Given the description of an element on the screen output the (x, y) to click on. 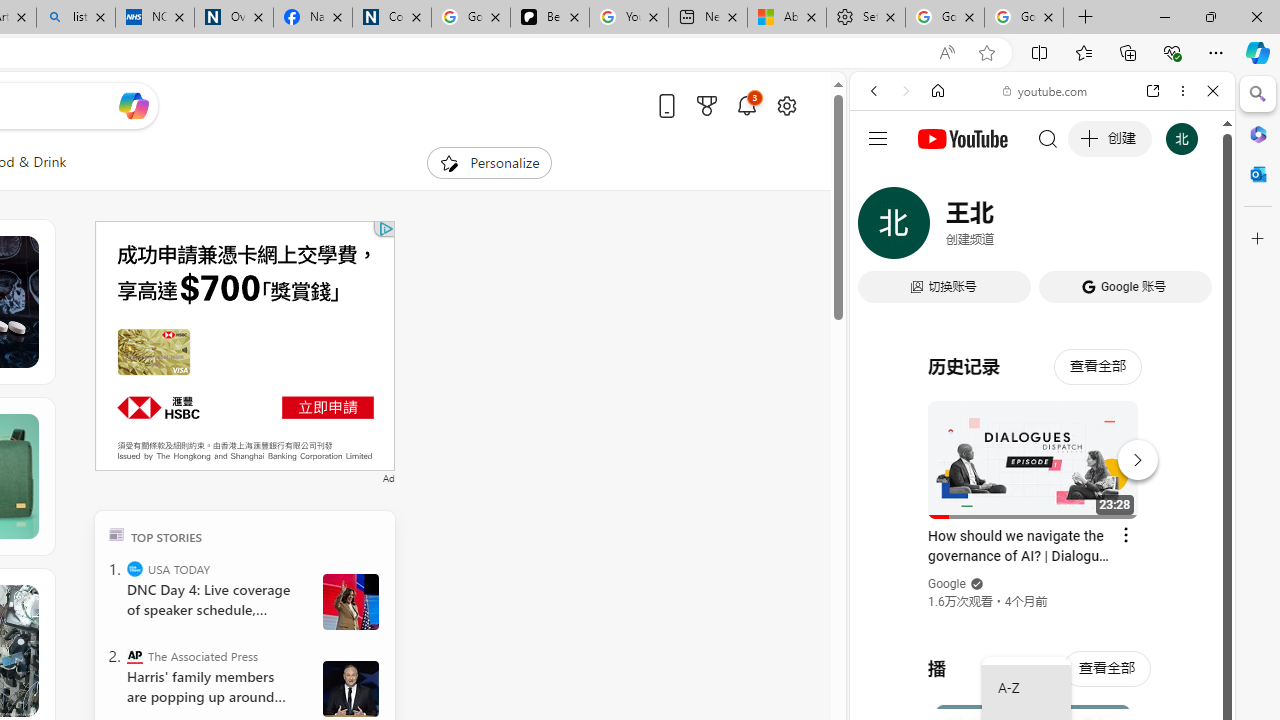
Be Smart | creating Science videos | Patreon (549, 17)
Search Filter, IMAGES (939, 228)
#you (1042, 445)
Class: b_serphb (1190, 229)
